Given the description of an element on the screen output the (x, y) to click on. 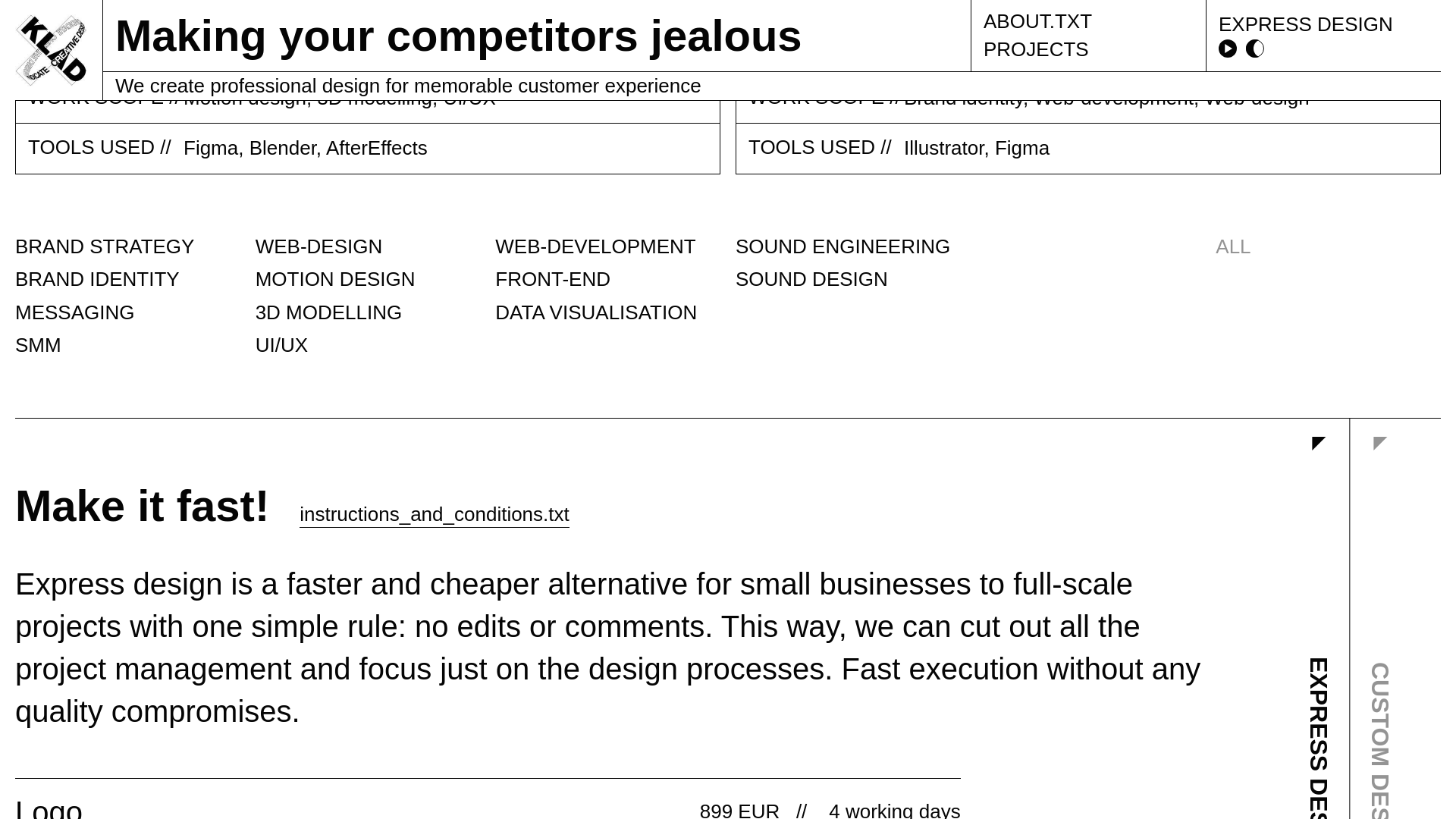
3D MODELLING (329, 312)
BRAND IDENTITY (96, 279)
WEB-DESIGN (319, 246)
WEB-DEVELOPMENT (595, 246)
SOUND ENGINEERING (842, 246)
DATA VISUALISATION (596, 312)
SMM (37, 345)
MOTION DESIGN (335, 279)
BRAND STRATEGY (103, 246)
ALL (1232, 246)
MESSAGING (73, 312)
SOUND DESIGN (811, 279)
FRONT-END (552, 279)
